Given the description of an element on the screen output the (x, y) to click on. 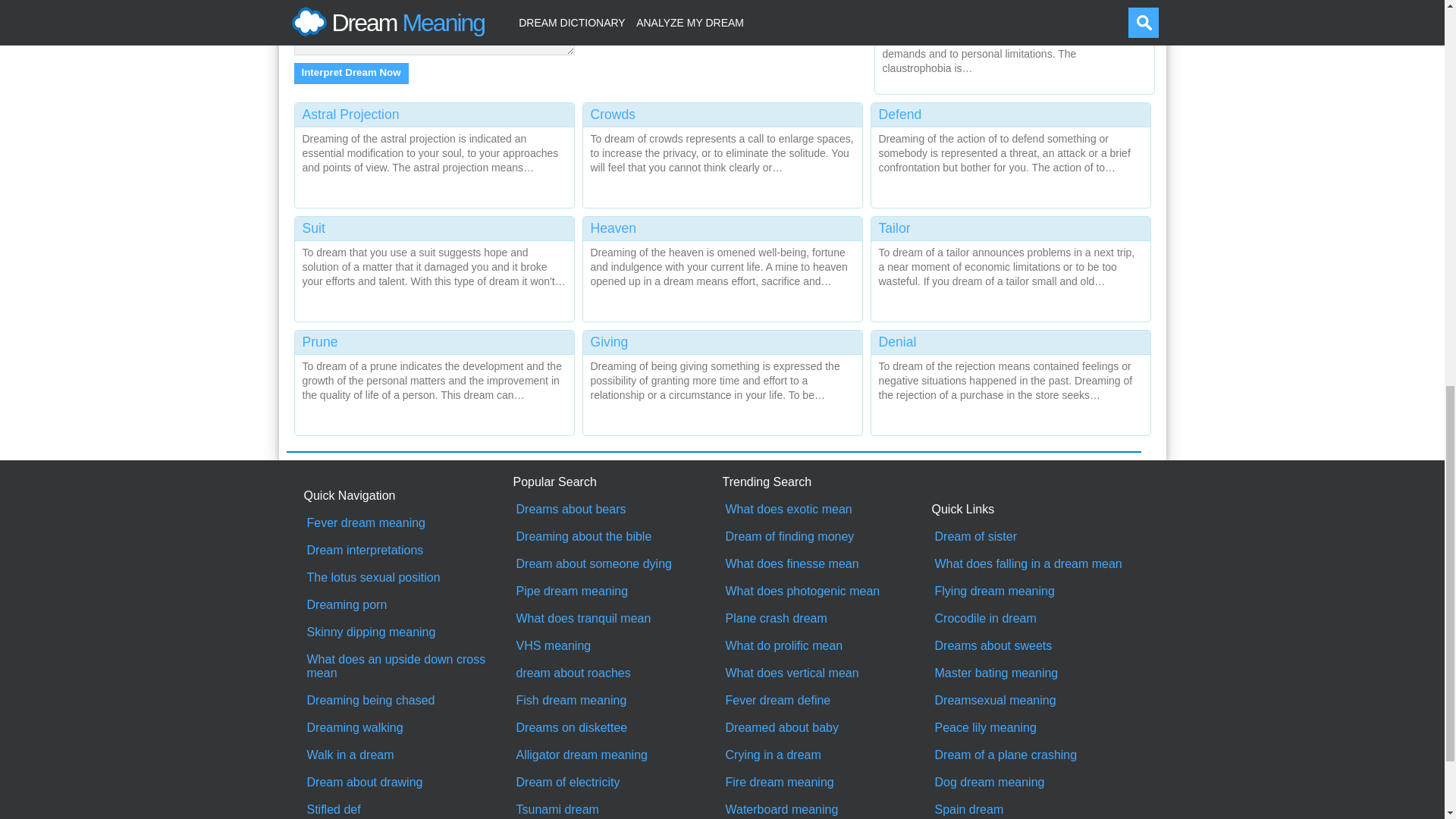
Dreams about bears (617, 410)
Double Decker Bus Dream Meaning (1010, 166)
Dream about someone dying (617, 465)
Dreaming walking (407, 629)
What does an upside down cross mean (407, 567)
Pipe dream meaning (617, 492)
VHS meaning (617, 547)
Dreaming porn (407, 506)
Recognition Dream Meaning (1010, 53)
Dreaming being chased (407, 602)
